Given the description of an element on the screen output the (x, y) to click on. 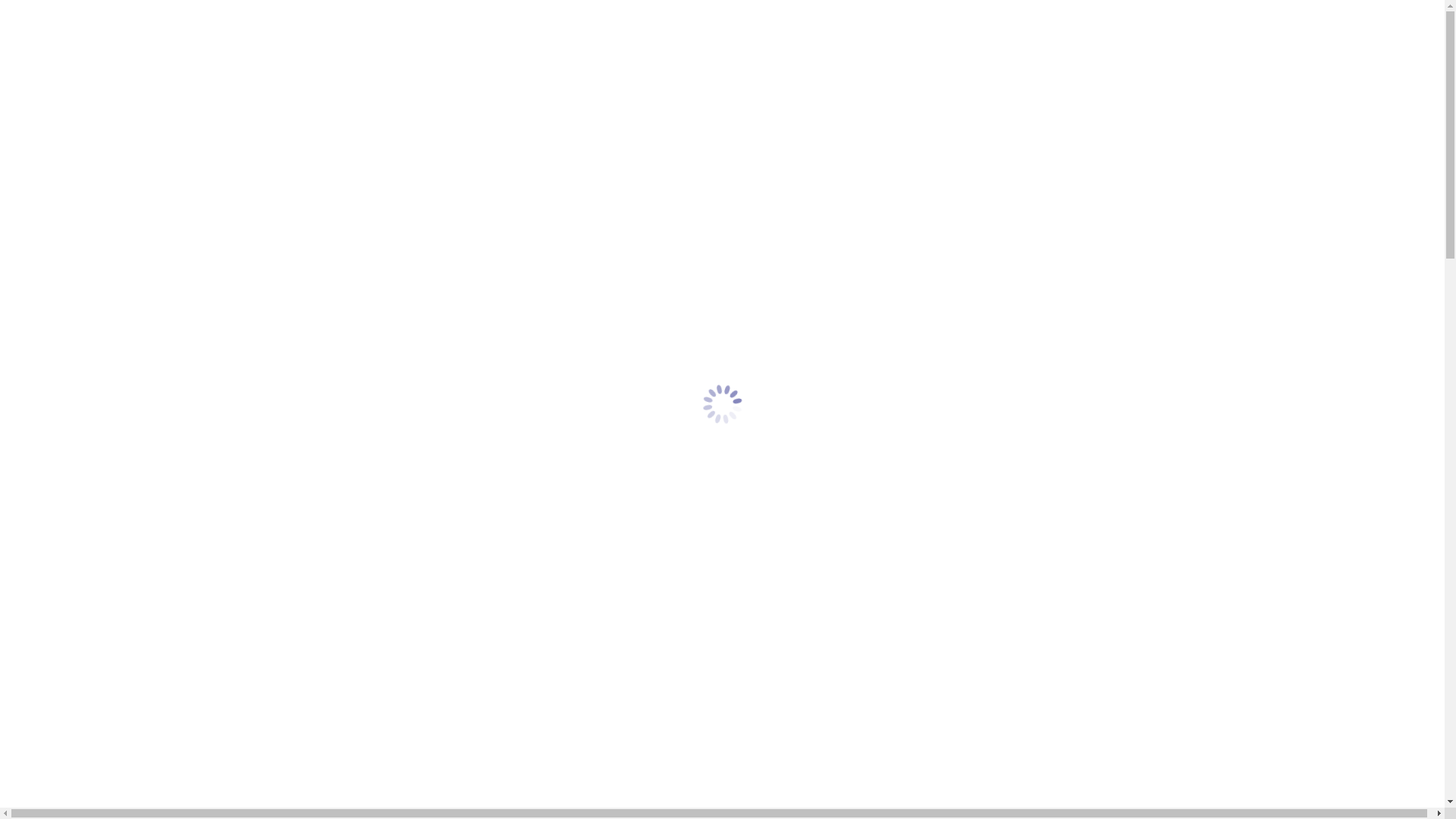
Toggle navigation Element type: text (12, 16)
CONTACT Element type: text (68, 184)
DETAILS Element type: text (64, 123)
GALLERY Element type: text (67, 63)
